Given the description of an element on the screen output the (x, y) to click on. 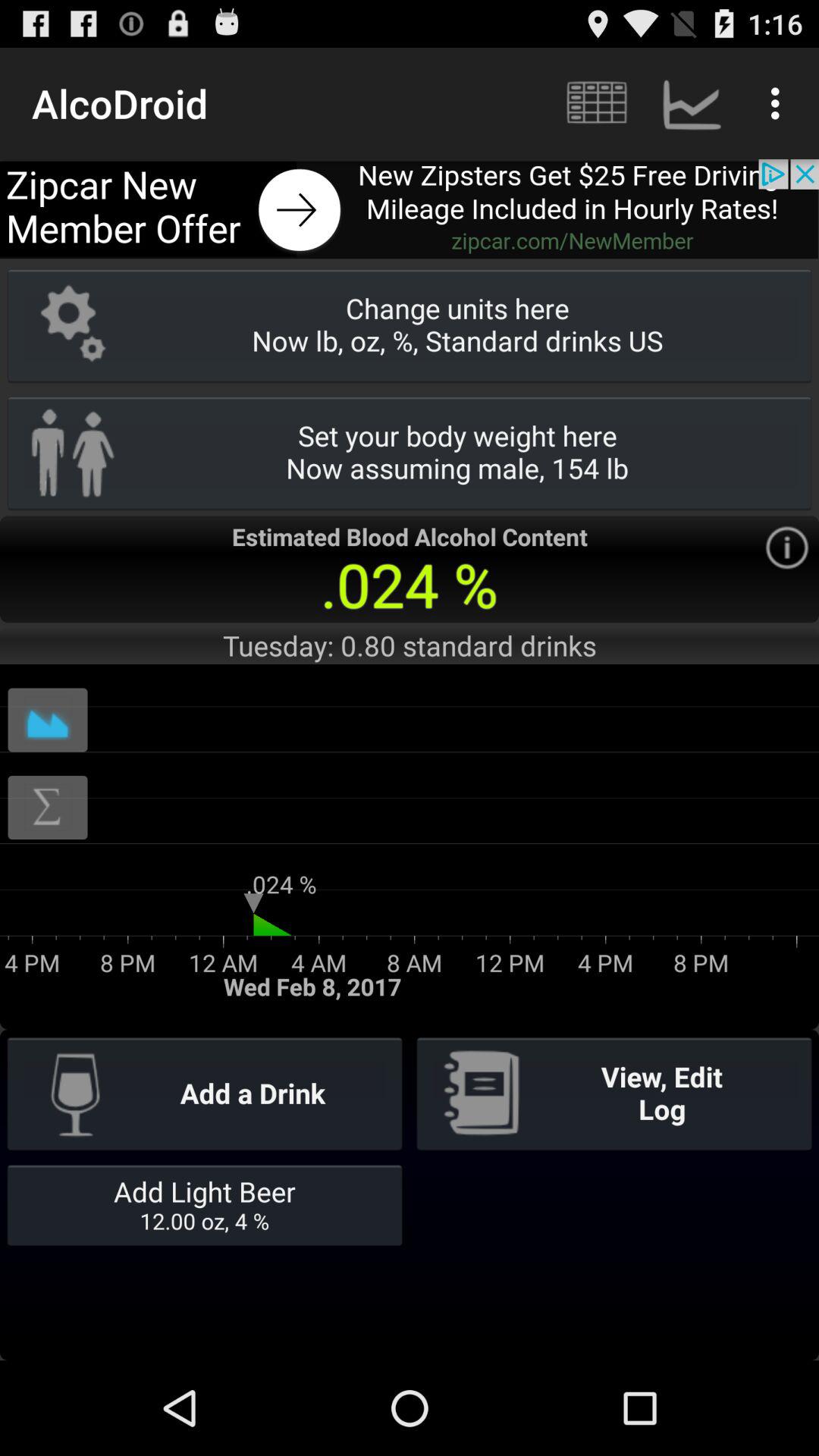
info button (787, 547)
